Given the description of an element on the screen output the (x, y) to click on. 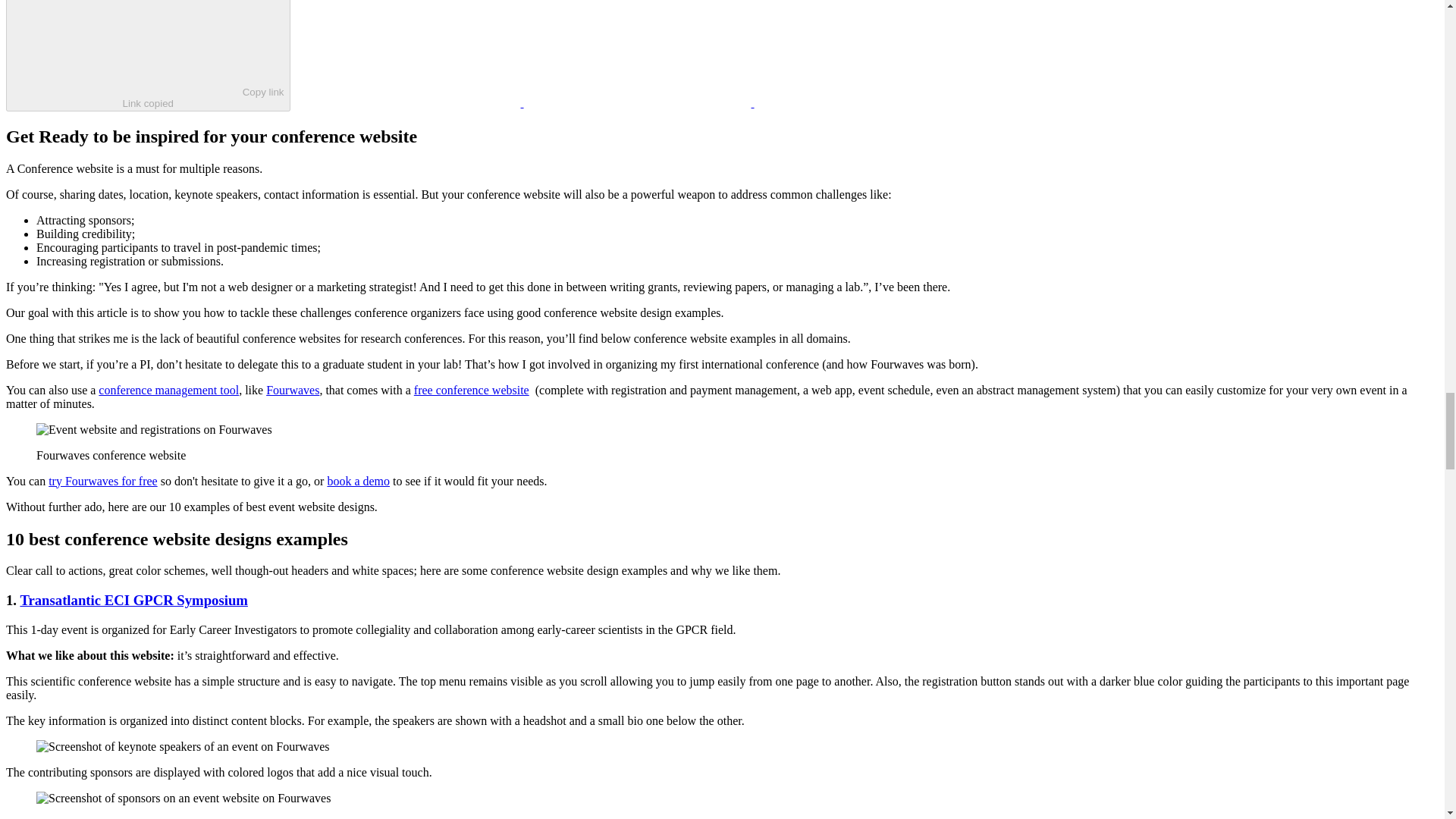
Academic Conference Management Software - Fourwaves (292, 390)
Event Website (471, 390)
Academic Conference Management Software - Fourwaves (168, 390)
